Given the description of an element on the screen output the (x, y) to click on. 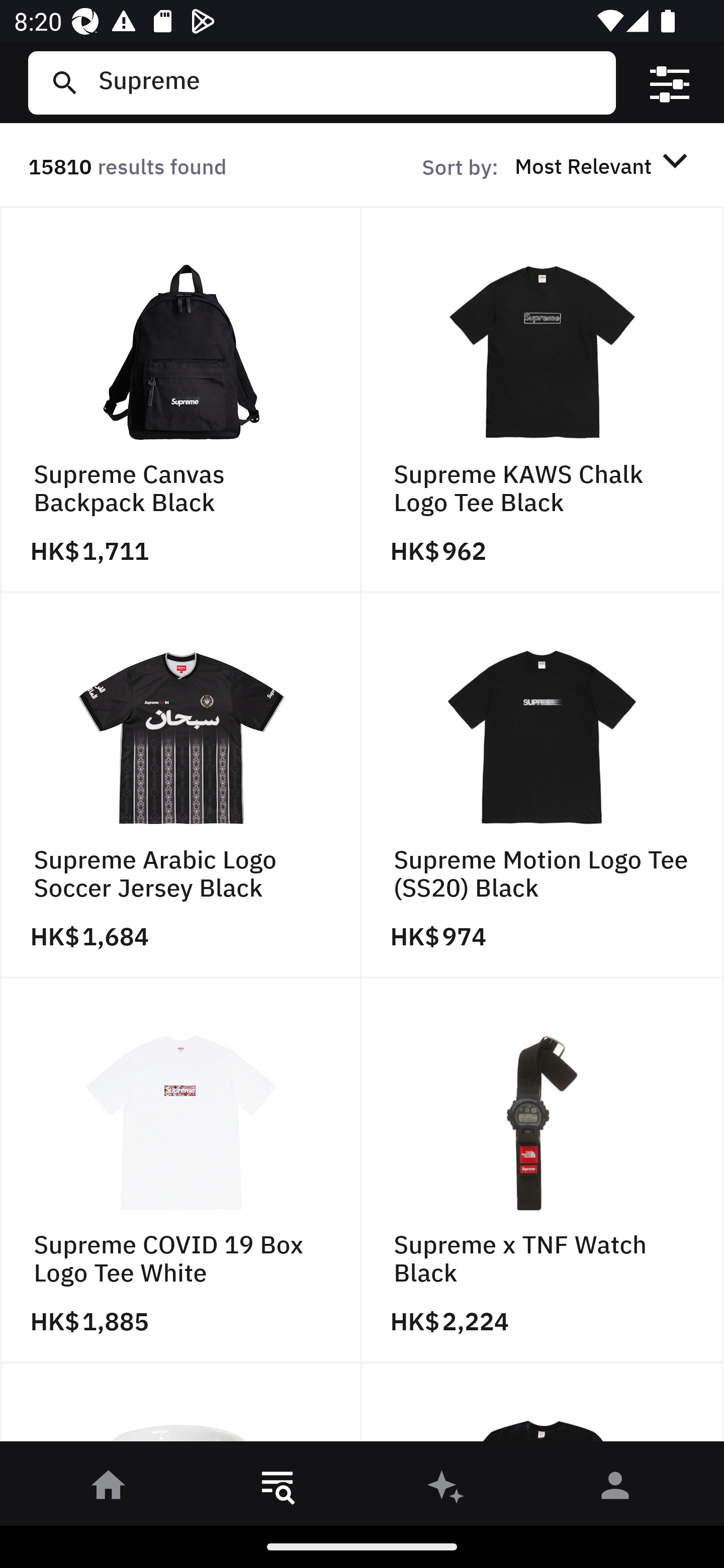
Supreme (349, 82)
 (669, 82)
Most Relevant  (604, 165)
Supreme Canvas Backpack Black HK$ 1,711 (181, 399)
Supreme KAWS Chalk Logo Tee Black HK$ 962 (543, 399)
Supreme Arabic Logo Soccer Jersey Black HK$ 1,684 (181, 785)
Supreme Motion Logo Tee (SS20) Black HK$ 974 (543, 785)
Supreme COVID 19 Box Logo Tee White HK$ 1,885 (181, 1171)
Supreme x TNF Watch Black HK$ 2,224 (543, 1171)
󰋜 (108, 1488)
󱎸 (277, 1488)
󰫢 (446, 1488)
󰀄 (615, 1488)
